Given the description of an element on the screen output the (x, y) to click on. 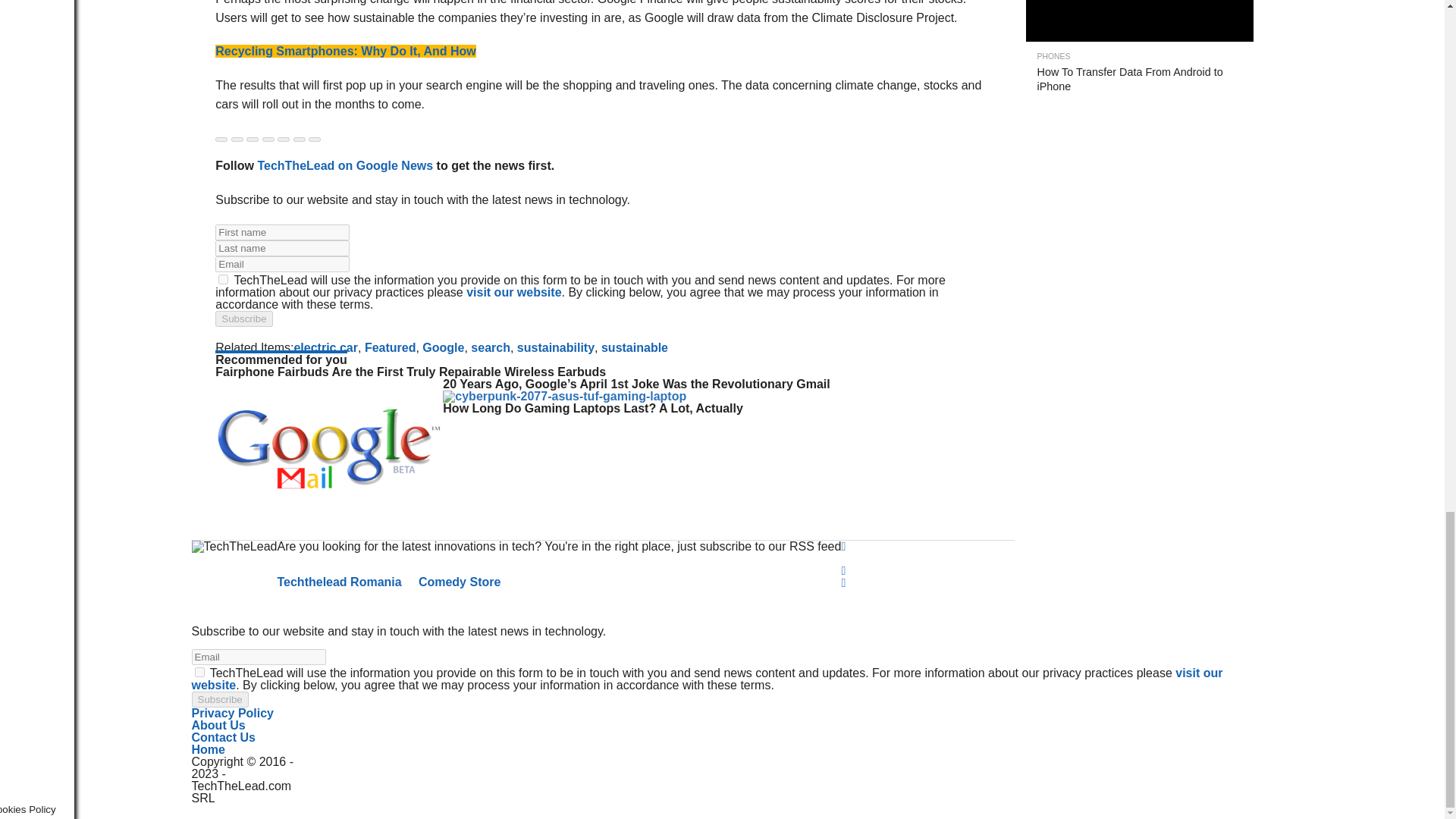
1 (223, 279)
Subscribe (243, 318)
Subscribe (218, 699)
How Long Do Gaming Laptops Last? A Lot, Actually (563, 395)
1 (198, 672)
